Given the description of an element on the screen output the (x, y) to click on. 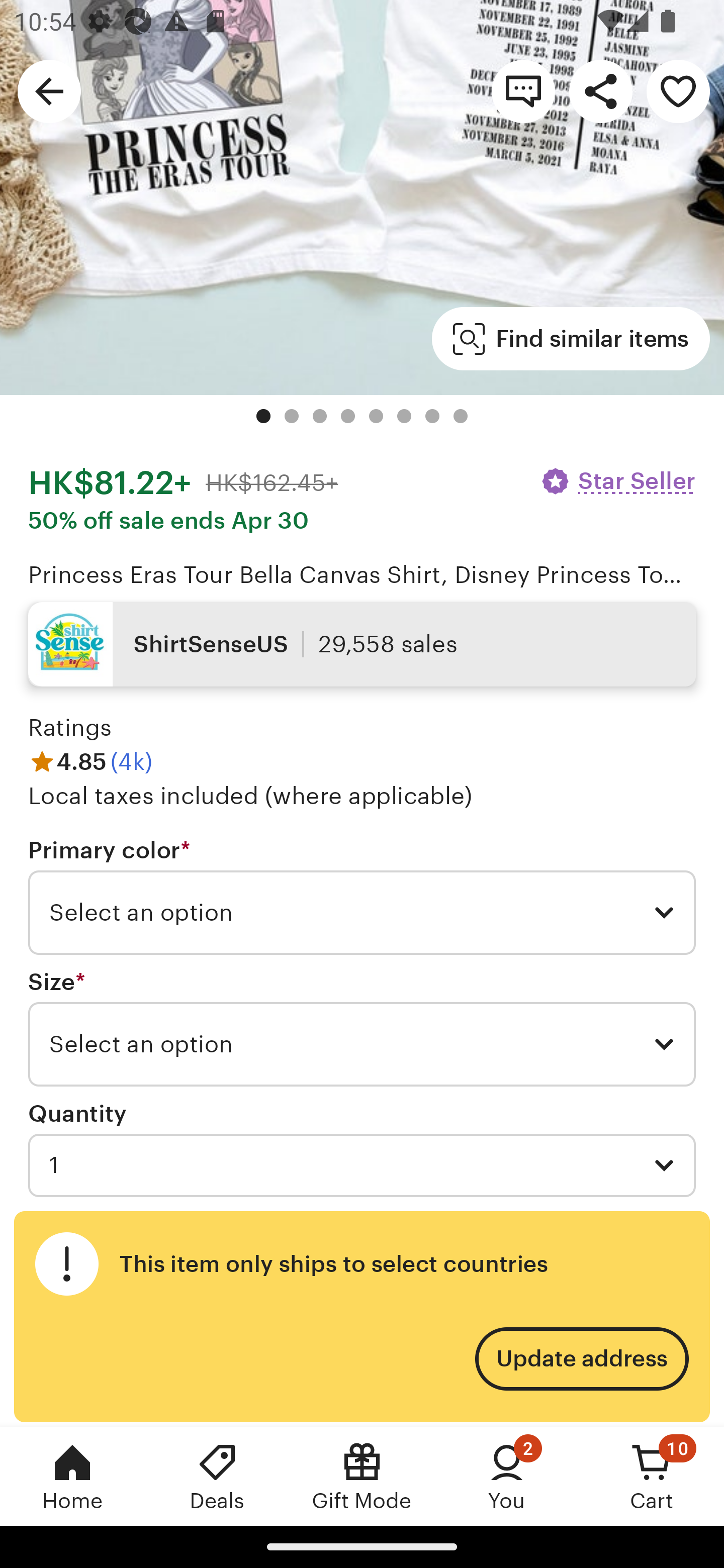
Navigate up (49, 90)
Contact shop (523, 90)
Share (600, 90)
Find similar items (571, 338)
Star Seller (617, 481)
ShirtSenseUS 29,558 sales (361, 644)
Ratings (70, 727)
4.85 (4k) (90, 761)
Primary color * Required Select an option (361, 895)
Select an option (361, 912)
Size * Required Select an option (361, 1027)
Select an option (361, 1043)
Quantity (77, 1113)
1 (361, 1164)
Update address (581, 1359)
Deals (216, 1475)
Gift Mode (361, 1475)
You, 2 new notifications You (506, 1475)
Cart, 10 new notifications Cart (651, 1475)
